Given the description of an element on the screen output the (x, y) to click on. 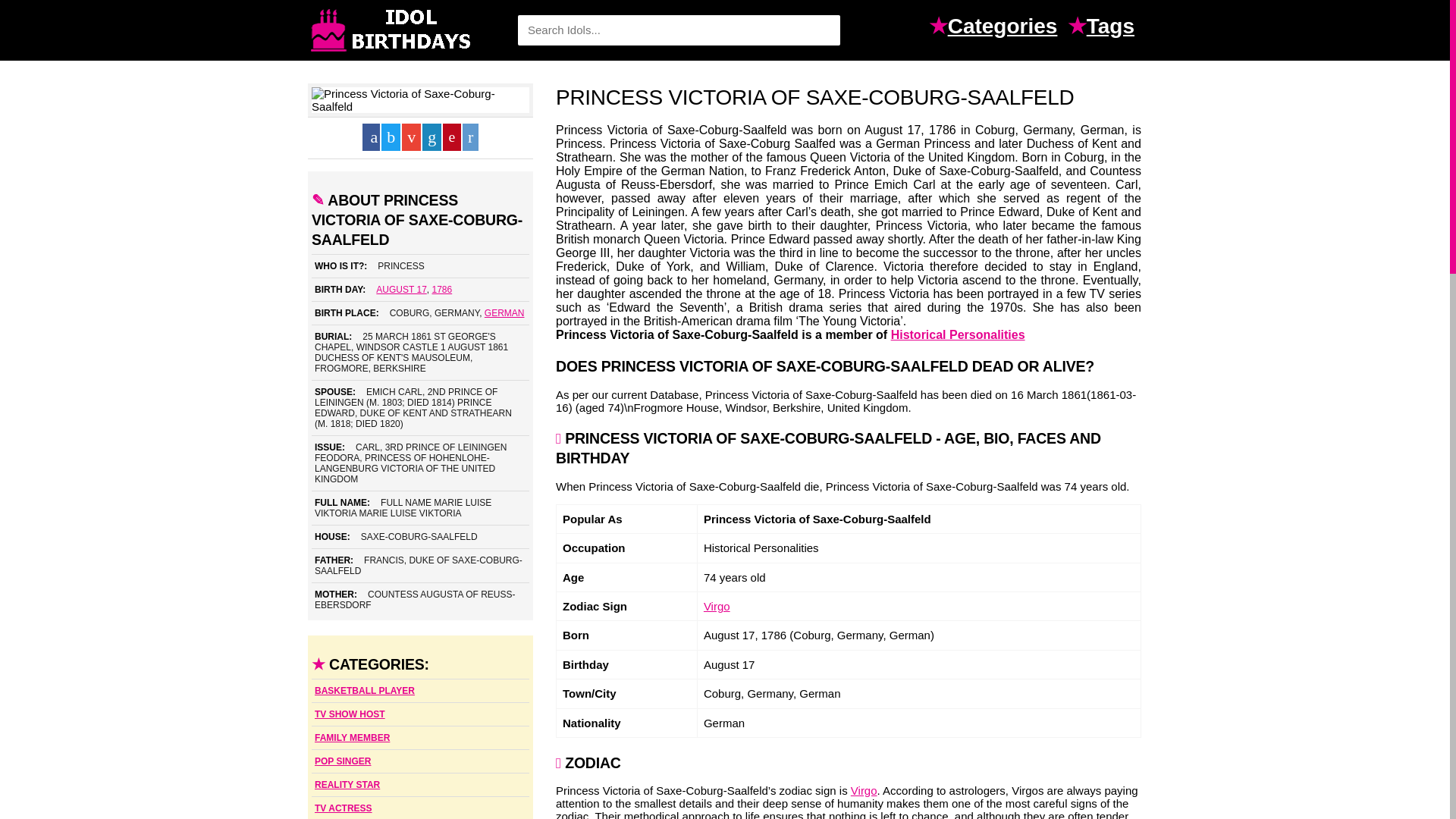
Tags (1113, 28)
Categories (1006, 28)
SEARCH (820, 30)
Tags (1113, 28)
Princess Victoria of Saxe-Coburg-Saalfeld (420, 99)
